Given the description of an element on the screen output the (x, y) to click on. 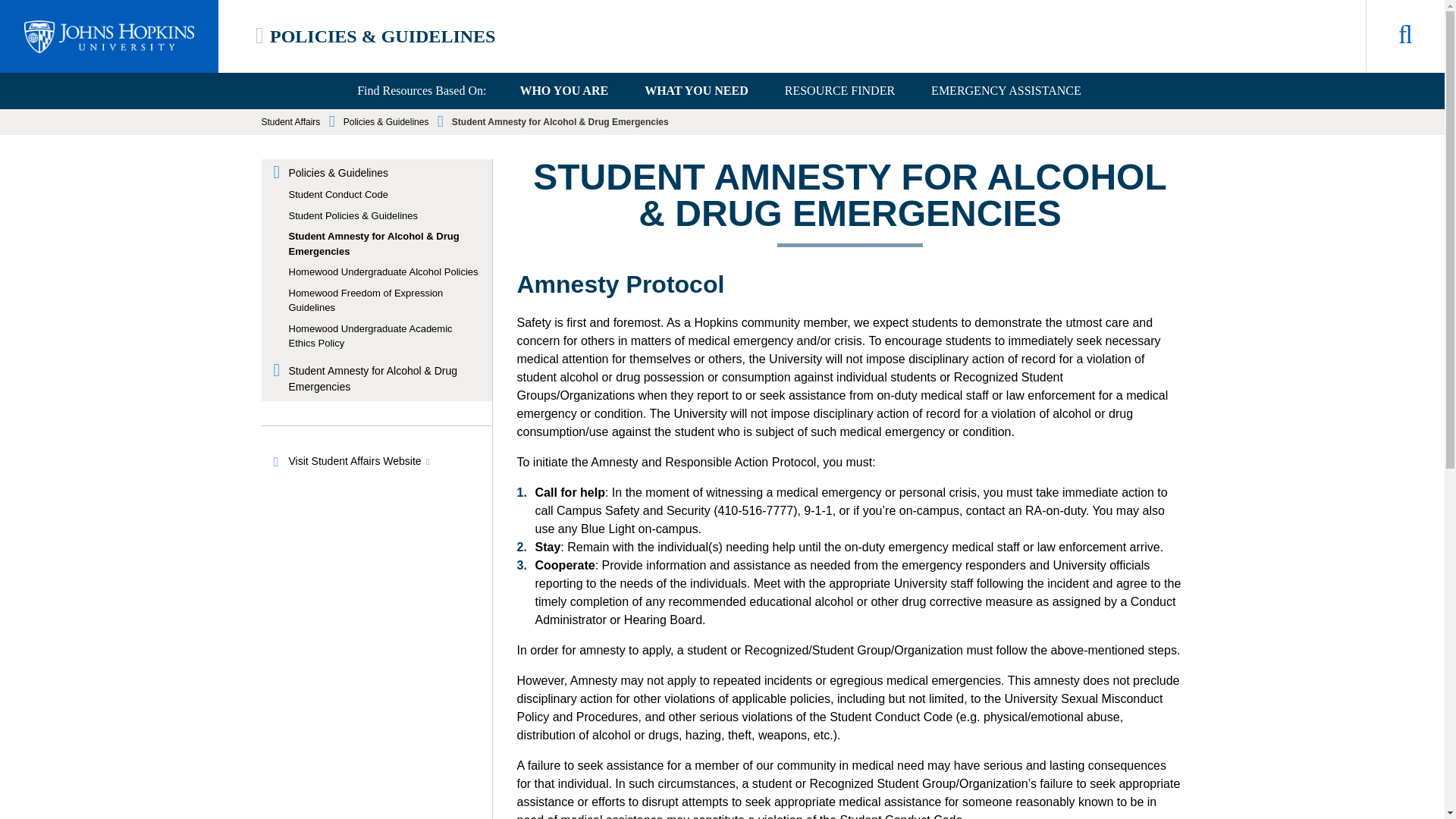
Homewood Undergraduate Alcohol Policies (383, 272)
Homewood Freedom of Expression Guidelines (383, 299)
Student Conduct Code (383, 194)
Student Affairs (290, 122)
Homewood Undergraduate Academic Ethics Policy (383, 336)
EMERGENCY ASSISTANCE (1005, 90)
WHAT YOU NEED (696, 90)
WHO YOU ARE (563, 90)
RESOURCE FINDER (839, 90)
